Given the description of an element on the screen output the (x, y) to click on. 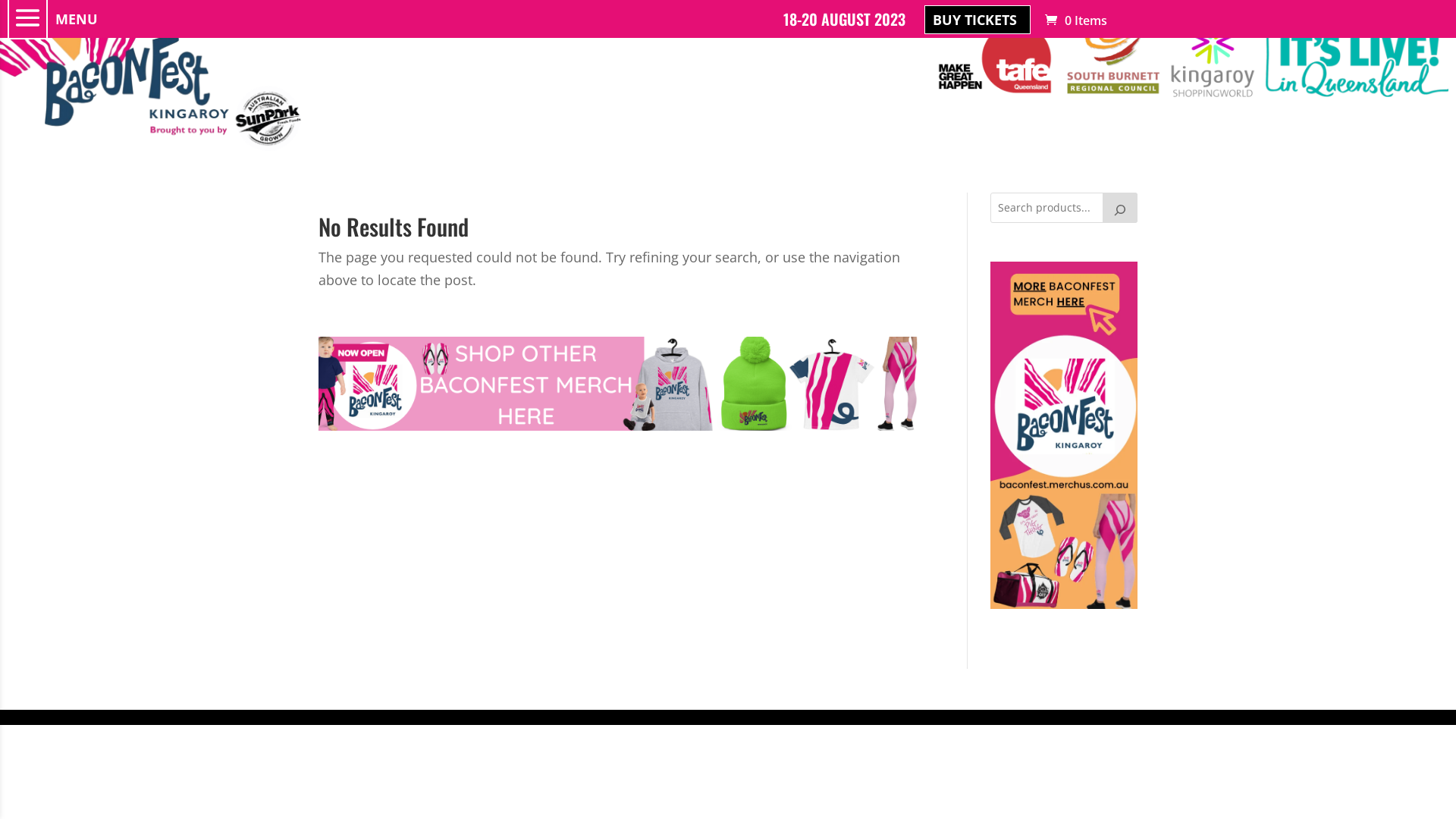
0 Items Element type: text (1074, 20)
KINGAROY BACONFEST PORK SHOP BANNER - MERCHUS Element type: hover (619, 383)
BaconFest_Horizontal Backgrd-01-at-2018-08-08 Element type: hover (152, 75)
BUY TICKETS Element type: text (977, 19)
